Given the description of an element on the screen output the (x, y) to click on. 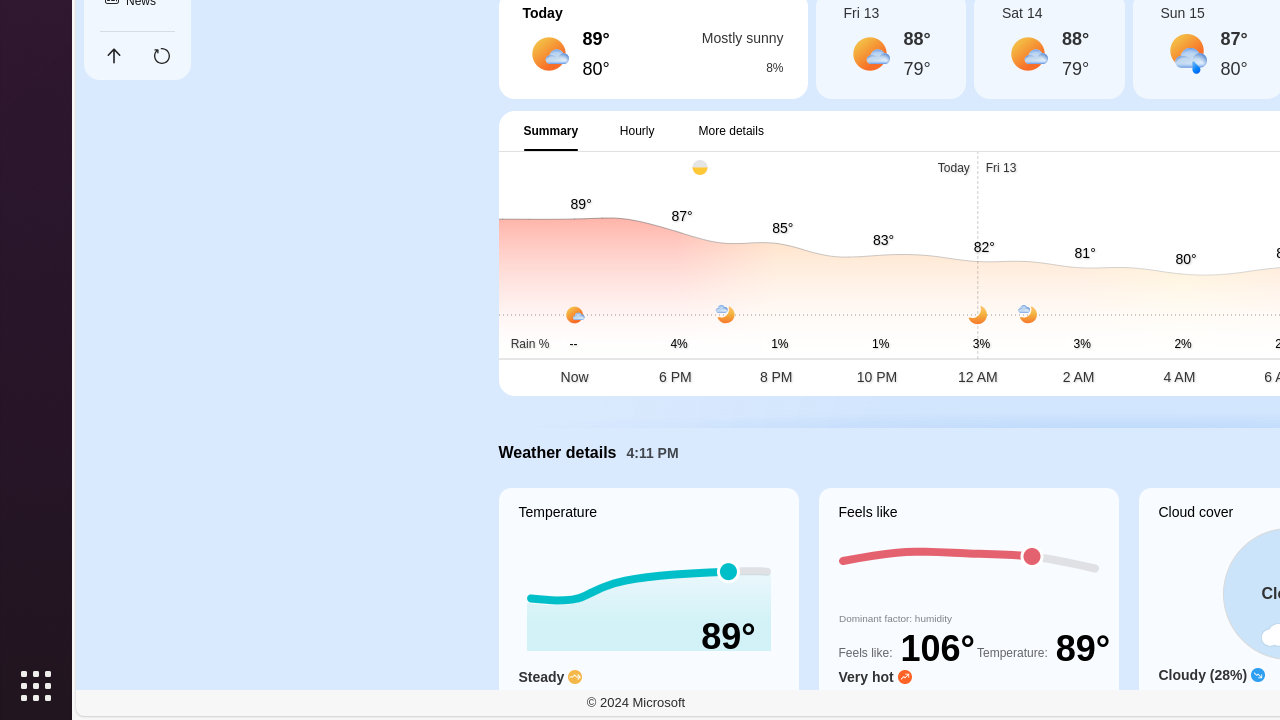
Summary Element type: page-tab (551, 131)
